Given the description of an element on the screen output the (x, y) to click on. 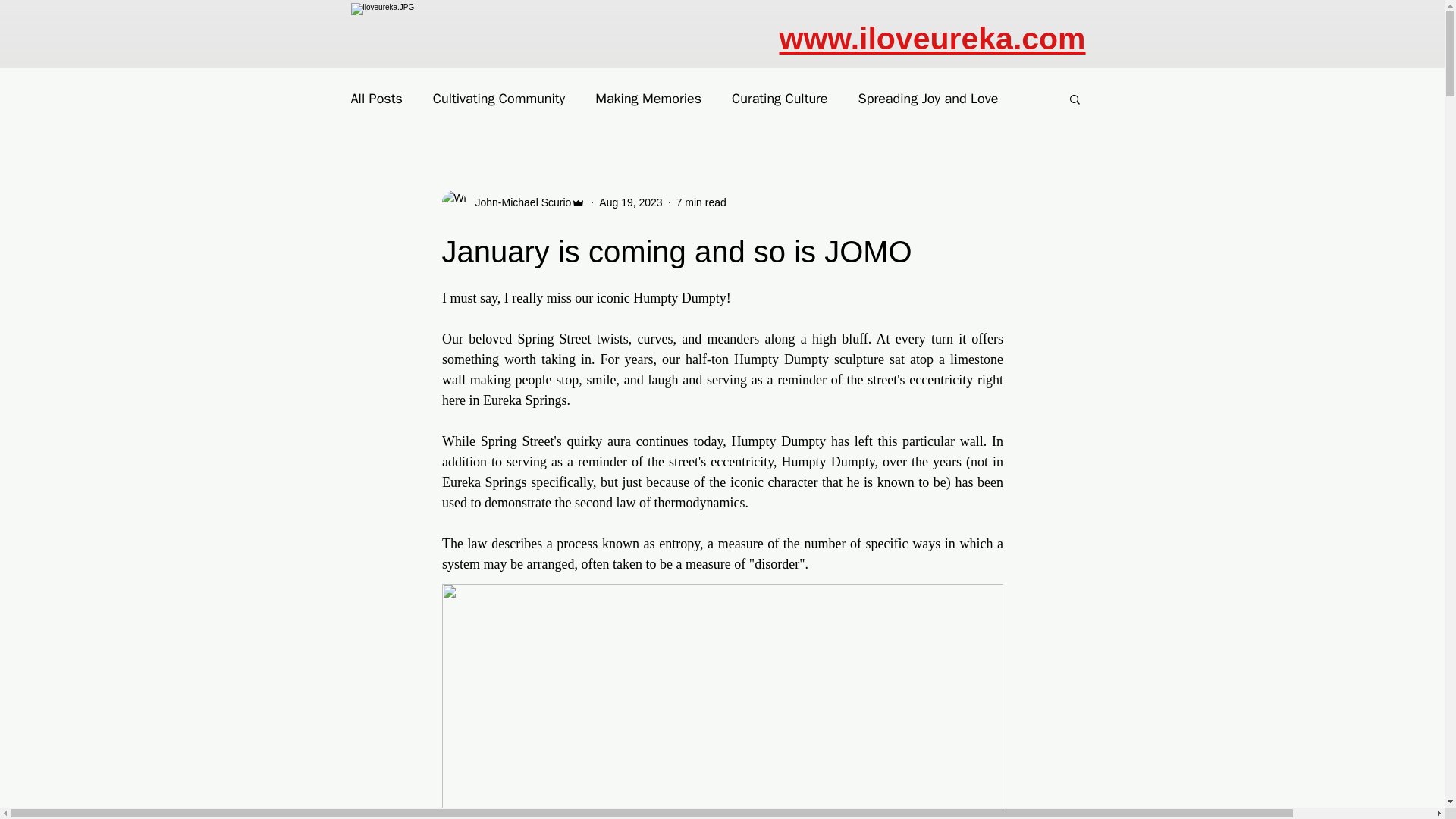
Making Memories (648, 98)
Aug 19, 2023 (630, 201)
entropy (679, 543)
www.iloveureka.com (932, 38)
John-Michael Scurio (517, 201)
7 min read (701, 201)
second law of thermodynamics (658, 502)
Spreading Joy and Love (928, 98)
Cultivating Community (498, 98)
John-Michael Scurio (513, 202)
Curating Culture (780, 98)
All Posts (375, 98)
